Given the description of an element on the screen output the (x, y) to click on. 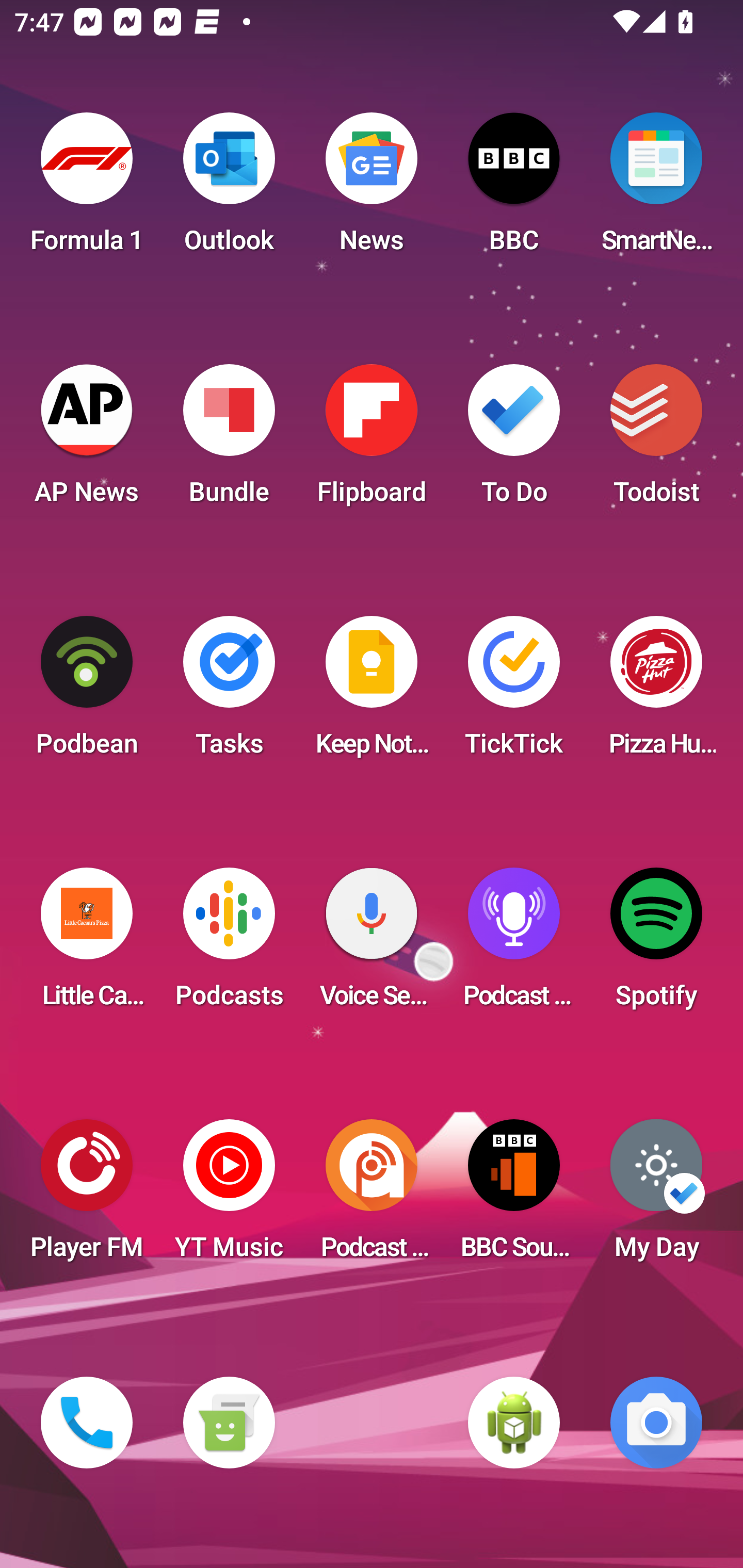
Formula 1 (86, 188)
Outlook (228, 188)
News (371, 188)
BBC (513, 188)
SmartNews (656, 188)
AP News (86, 440)
Bundle (228, 440)
Flipboard (371, 440)
To Do (513, 440)
Todoist (656, 440)
Podbean (86, 692)
Tasks (228, 692)
Keep Notes (371, 692)
TickTick (513, 692)
Pizza Hut HK & Macau (656, 692)
Little Caesars Pizza (86, 943)
Podcasts (228, 943)
Voice Search (371, 943)
Podcast Player (513, 943)
Spotify (656, 943)
Player FM (86, 1195)
YT Music (228, 1195)
Podcast Addict (371, 1195)
BBC Sounds (513, 1195)
My Day (656, 1195)
Phone (86, 1422)
Messaging (228, 1422)
WebView Browser Tester (513, 1422)
Camera (656, 1422)
